Given the description of an element on the screen output the (x, y) to click on. 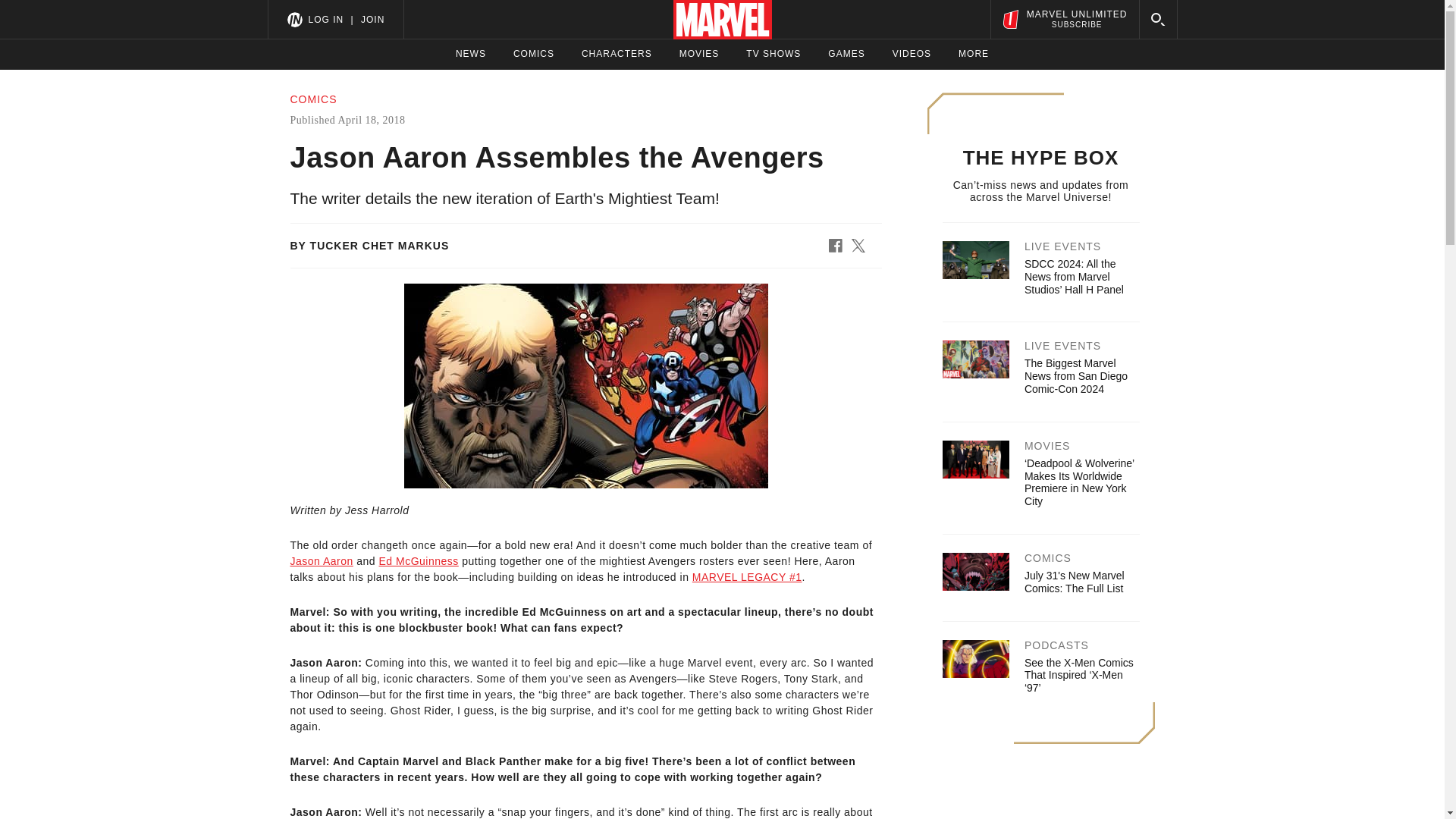
NEWS (470, 54)
TV SHOWS (772, 54)
JOIN (372, 18)
Jason Aaron (320, 561)
LOG IN (325, 18)
Ed McGuinness (1064, 19)
GAMES (418, 561)
COMICS (846, 54)
July 31's New Marvel Comics: The Full List (533, 54)
MOVIES (1074, 581)
MORE (699, 54)
VIDEOS (973, 54)
CHARACTERS (911, 54)
The Biggest Marvel News from San Diego Comic-Con 2024 (616, 54)
